Given the description of an element on the screen output the (x, y) to click on. 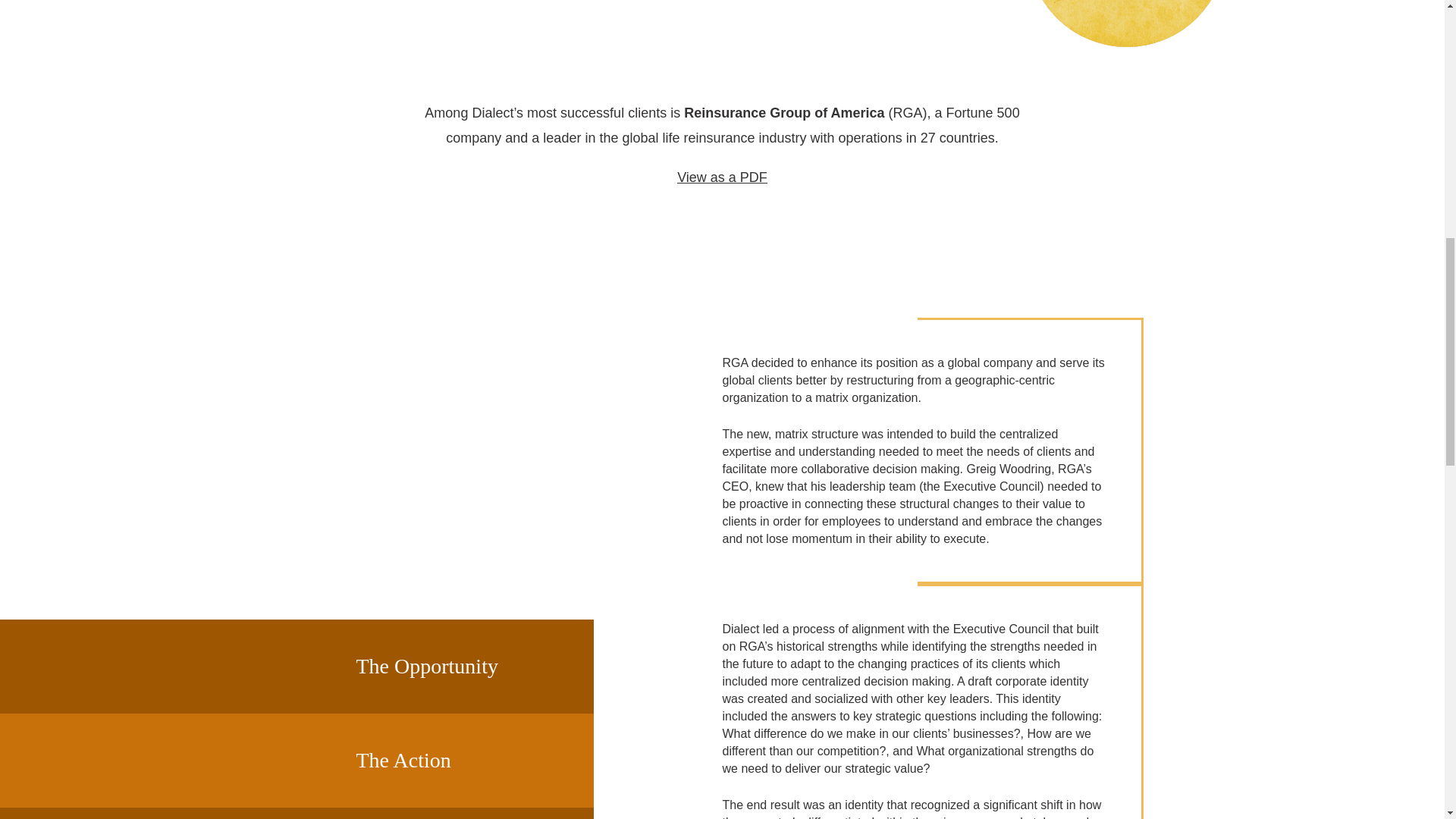
The Result (446, 813)
View as a PDF (722, 177)
The Opportunity (446, 666)
The Action (446, 760)
